Given the description of an element on the screen output the (x, y) to click on. 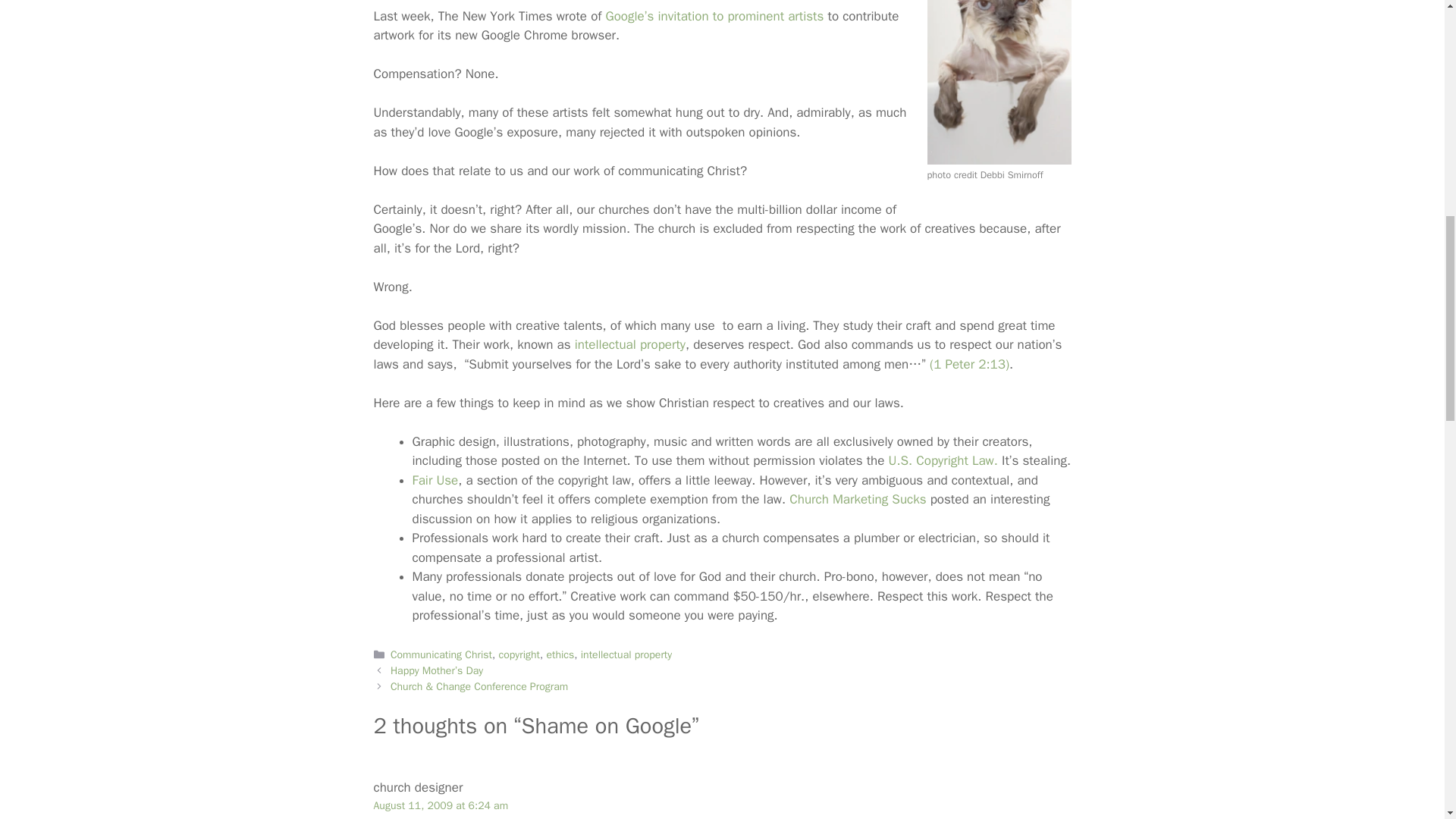
ethics (559, 654)
Church Marketing Sucks (857, 498)
U.S. Copyright Law. (942, 460)
copyright (519, 654)
Fair Use (435, 480)
intellectual property (625, 654)
Communicating Christ (441, 654)
Scroll back to top (1406, 720)
intellectual property (630, 344)
